Given the description of an element on the screen output the (x, y) to click on. 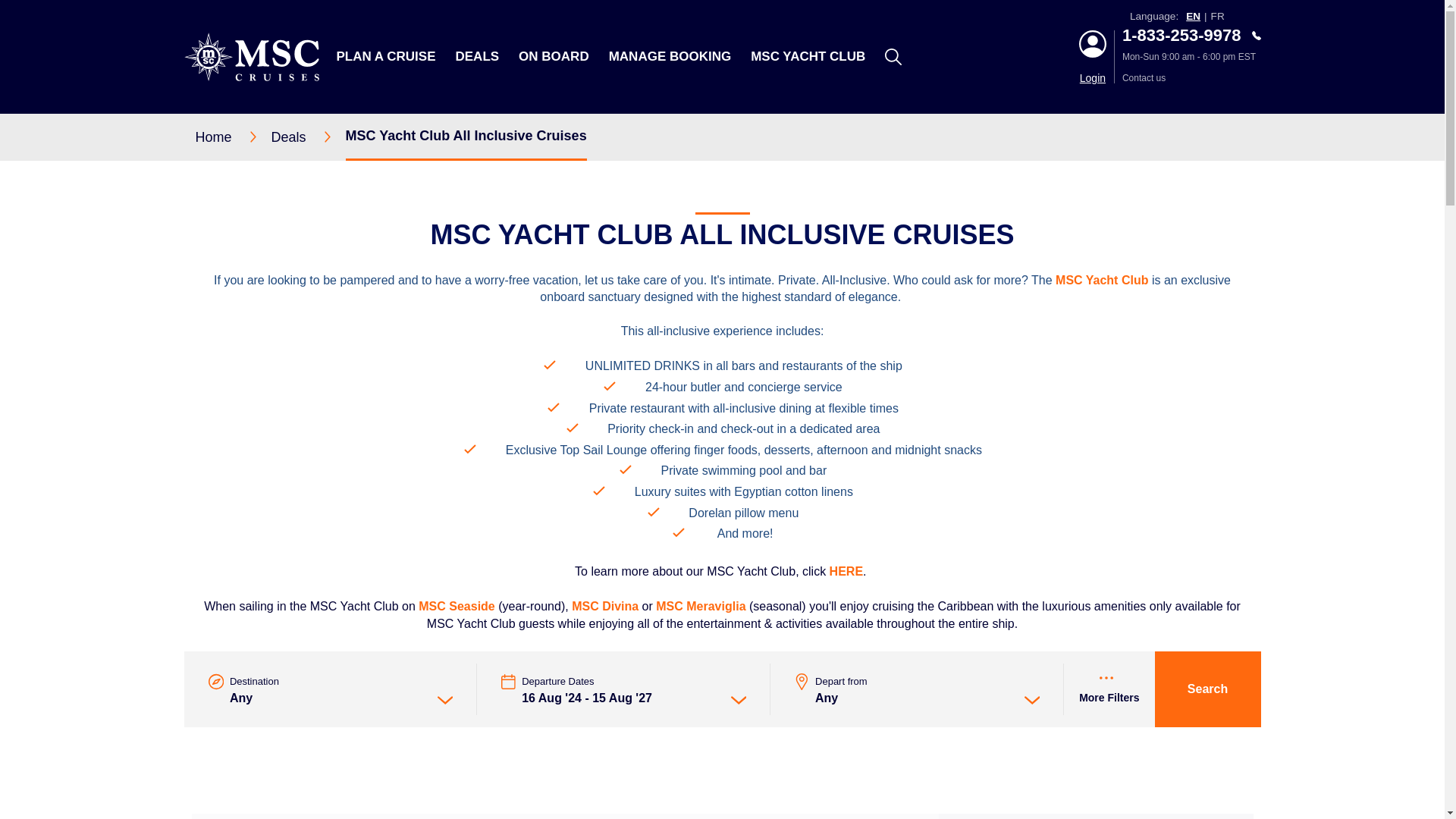
FR (1217, 16)
Contact us (1191, 77)
PLAN A CRUISE (385, 56)
ON BOARD (553, 56)
DEALS (476, 56)
EN (1192, 16)
MSC YACHT CLUB (807, 56)
Login (1092, 77)
MANAGE BOOKING (670, 56)
Search (1071, 155)
